Given the description of an element on the screen output the (x, y) to click on. 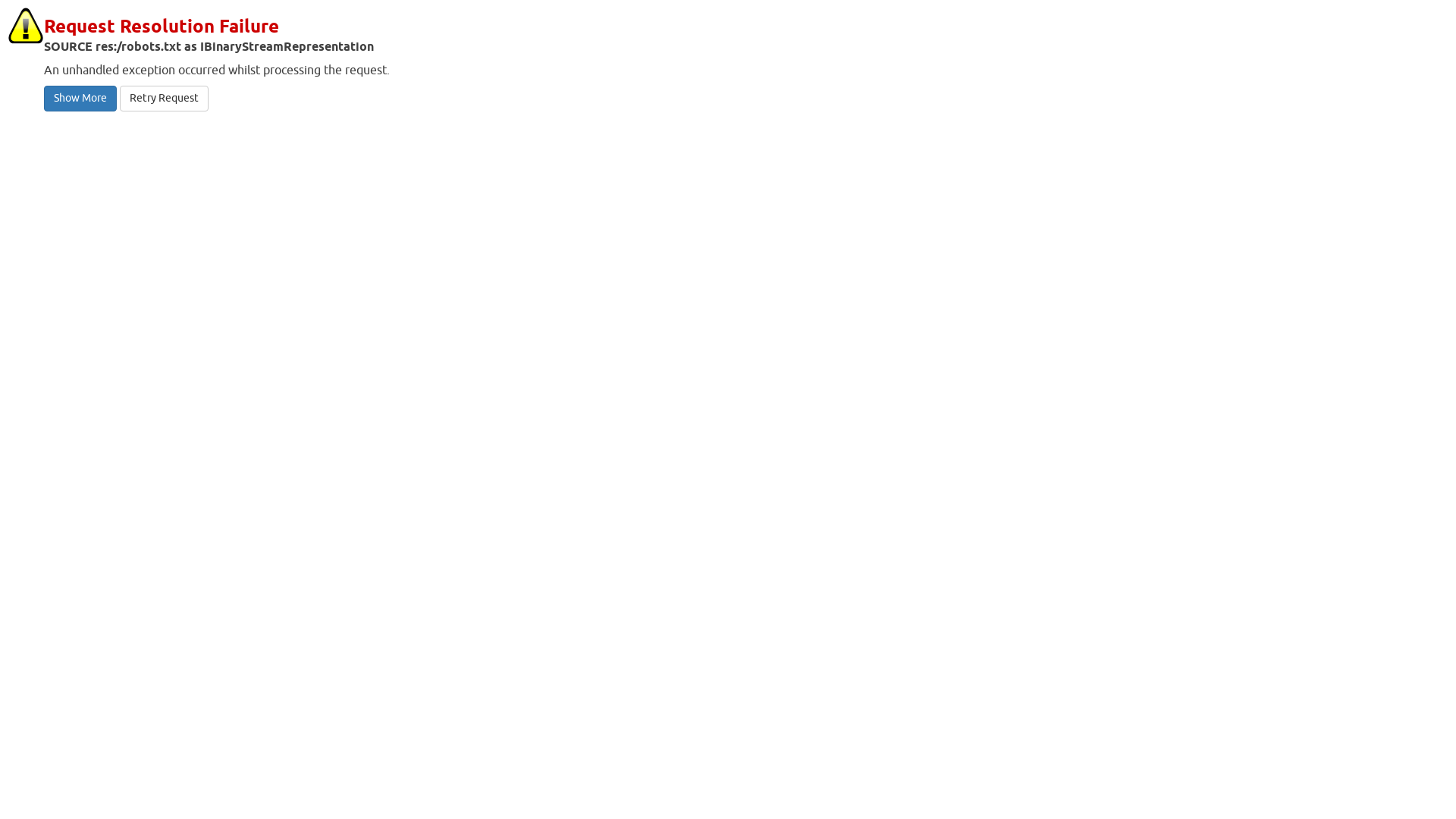
Retry Request Element type: text (163, 98)
Show More Element type: text (79, 98)
